Given the description of an element on the screen output the (x, y) to click on. 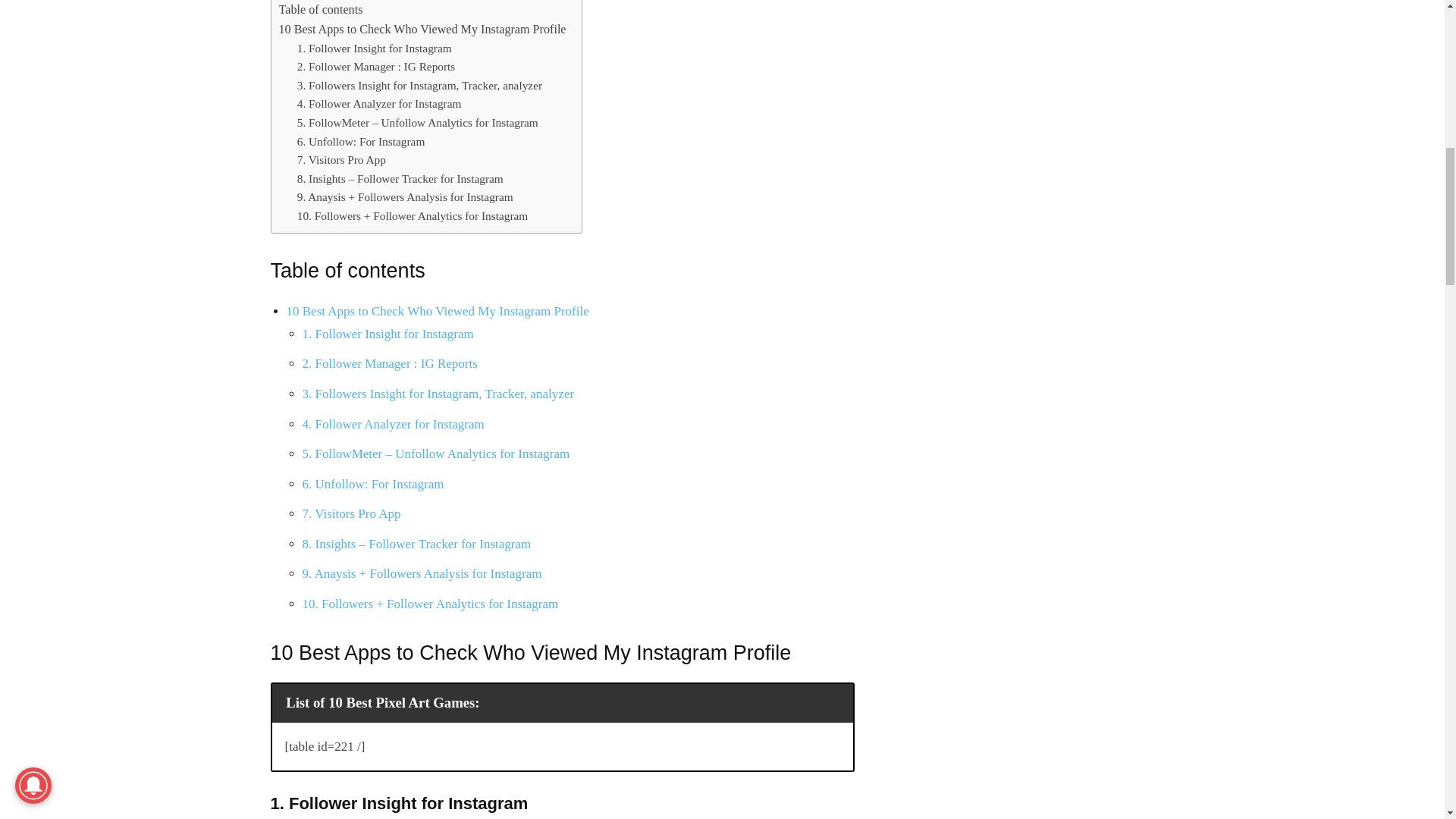
Table of contents (320, 9)
